Given the description of an element on the screen output the (x, y) to click on. 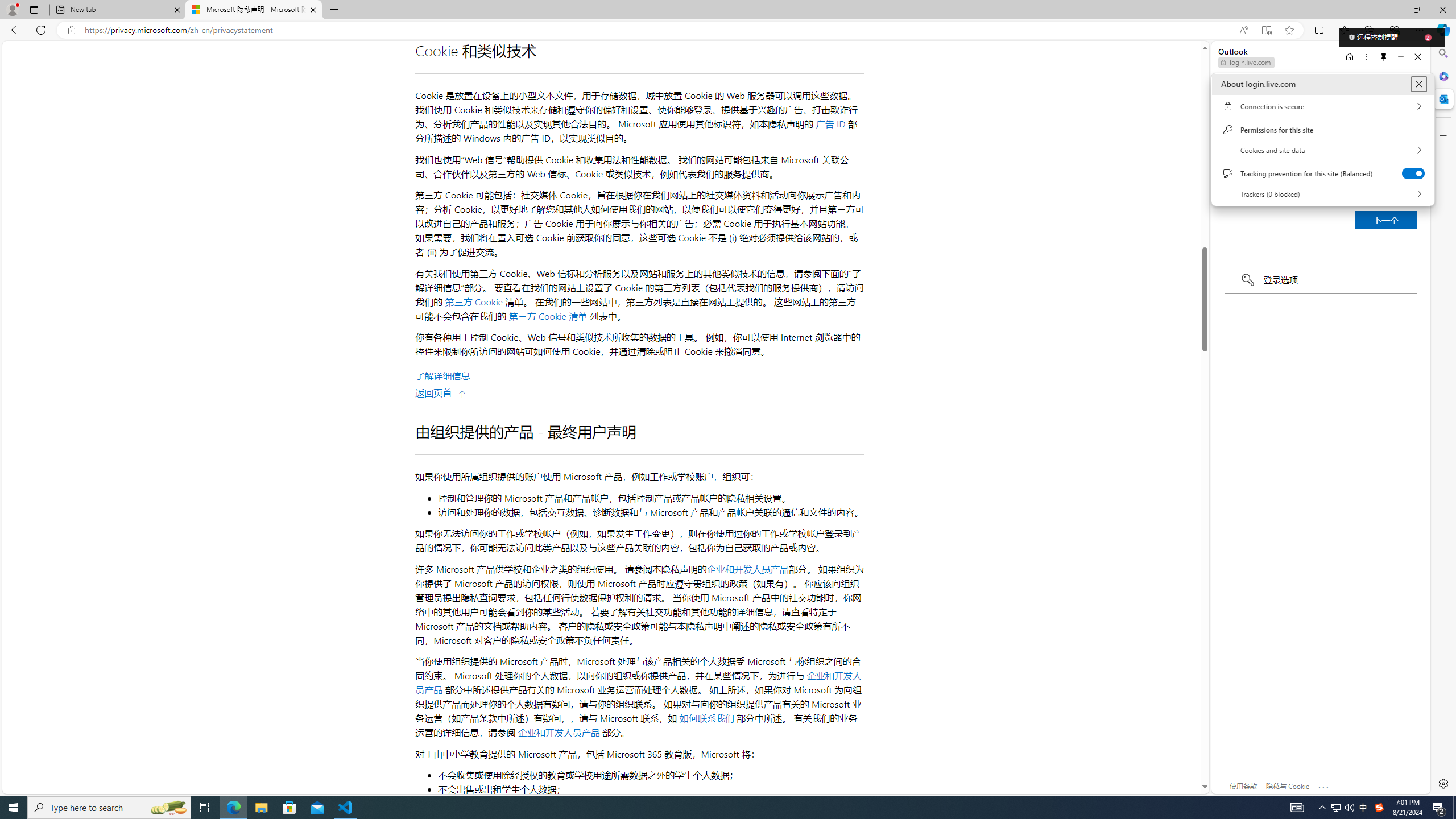
Cookies and site data (1322, 150)
Connection is secure (1322, 105)
Running applications (707, 807)
Tracking prevention for this site (Balanced) (1413, 173)
Trackers (0 blocked) (1322, 193)
